Given the description of an element on the screen output the (x, y) to click on. 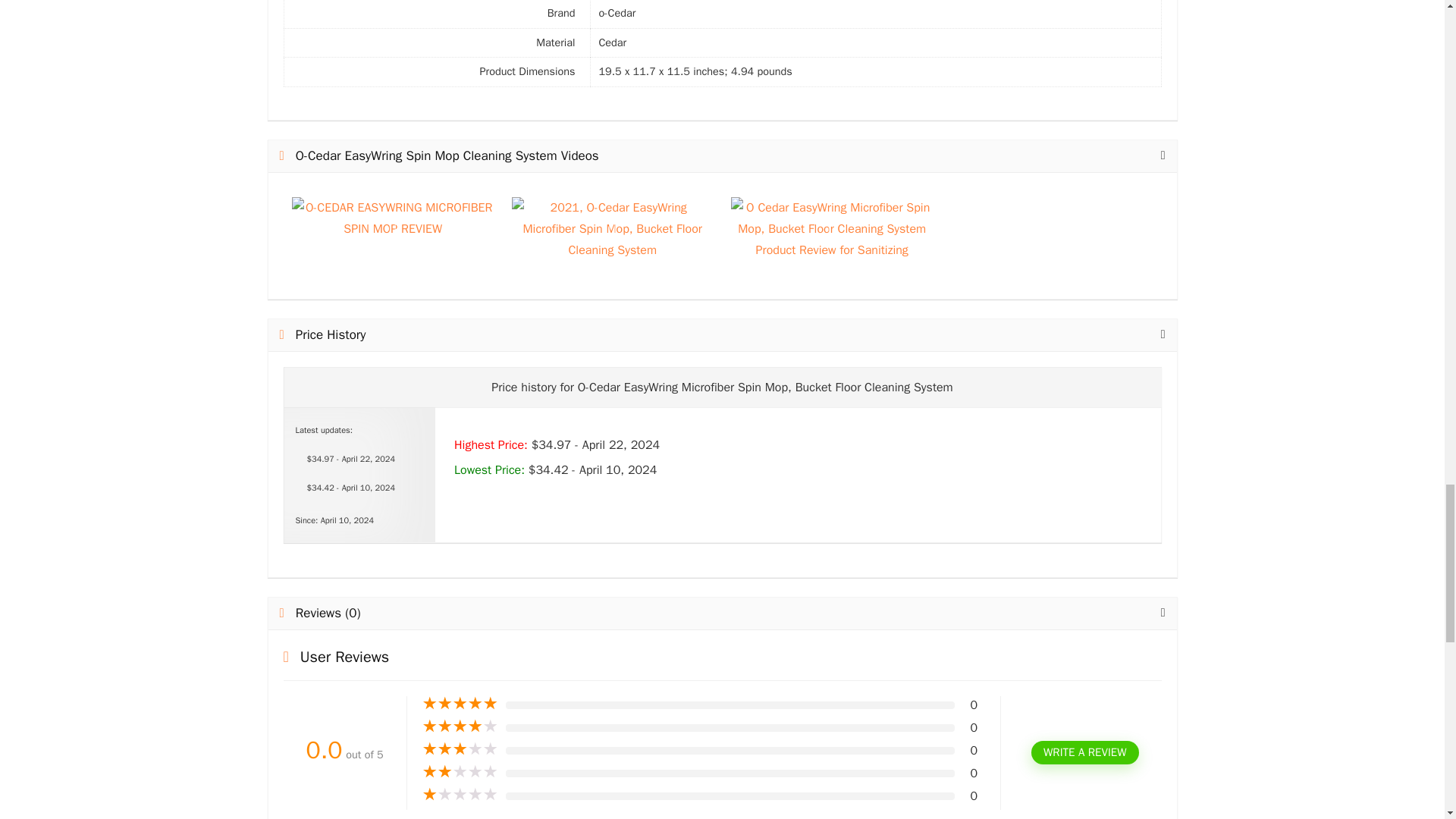
Rated 5 out of 5 (459, 703)
Rated 1 out of 5 (459, 794)
WRITE A REVIEW (1084, 752)
Rated 3 out of 5 (459, 749)
Rated 2 out of 5 (459, 771)
Rated 4 out of 5 (459, 726)
